Given the description of an element on the screen output the (x, y) to click on. 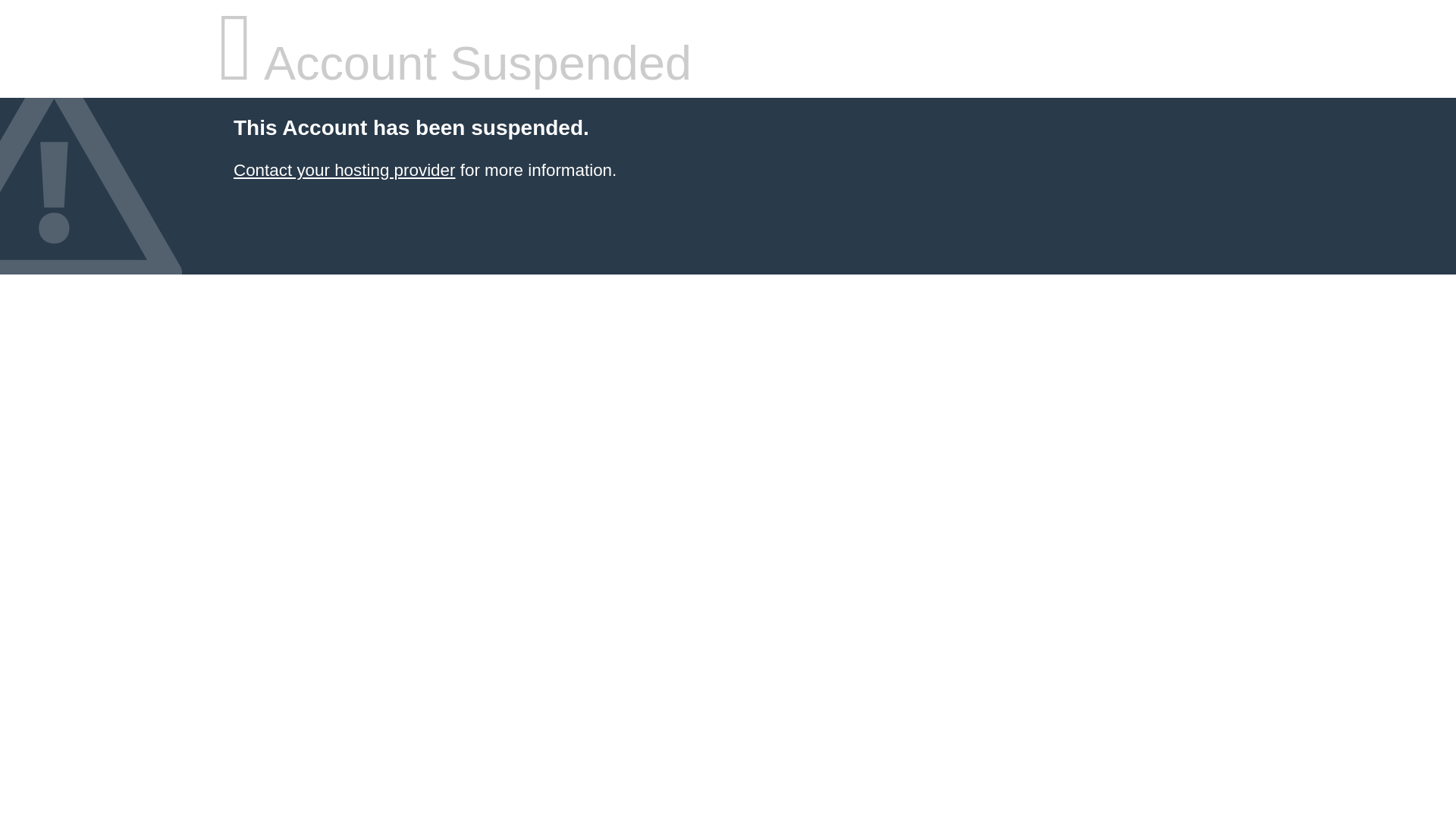
Contact your hosting provider (343, 169)
